Given the description of an element on the screen output the (x, y) to click on. 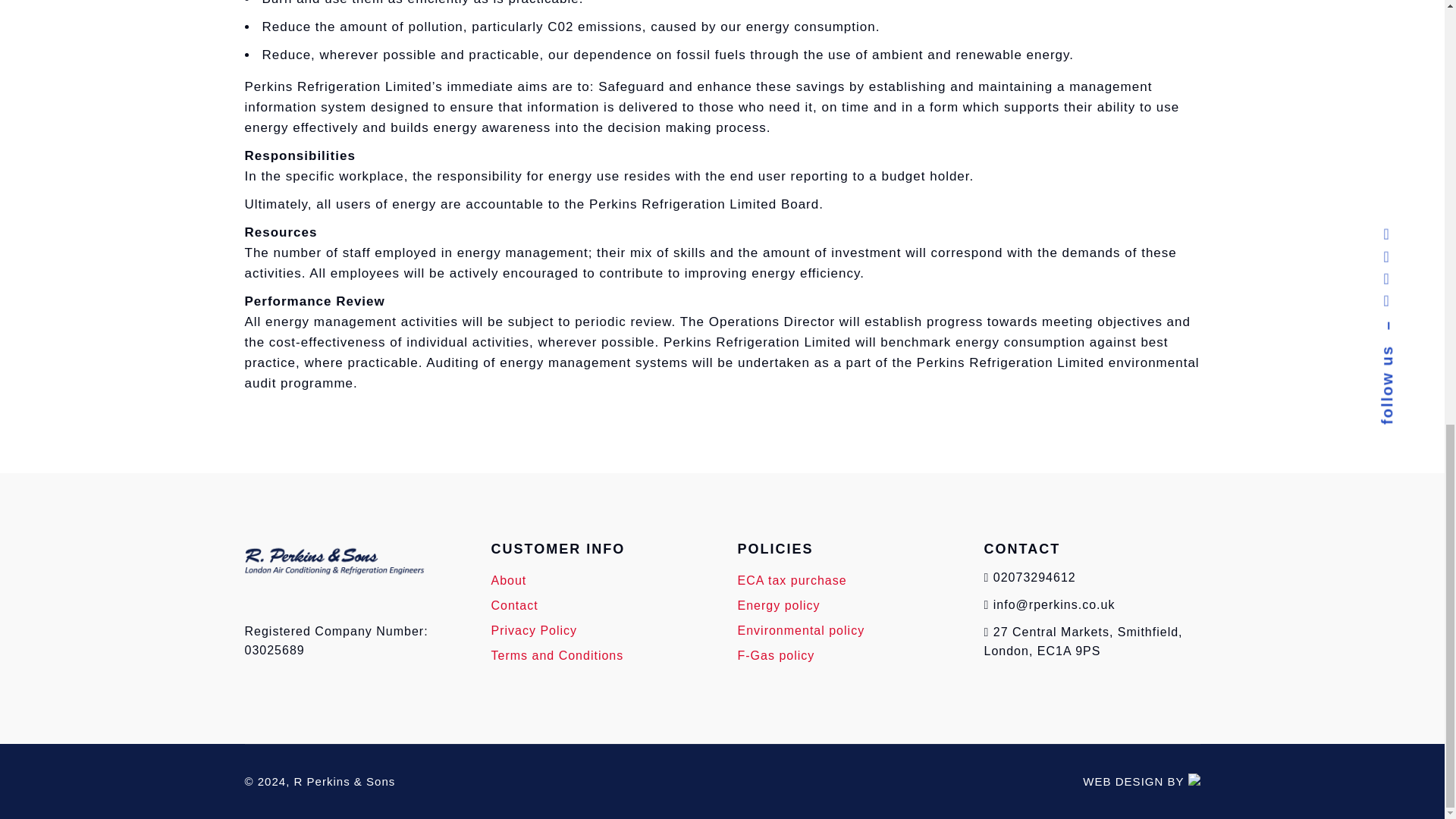
Privacy Policy (535, 630)
Contact (515, 604)
Energy policy (777, 604)
Terms and Conditions (558, 655)
Environmental policy (800, 630)
About (509, 580)
02073294612 (1033, 576)
F-Gas policy (774, 655)
WEB DESIGN (1123, 780)
ECA tax purchase (790, 580)
